Given the description of an element on the screen output the (x, y) to click on. 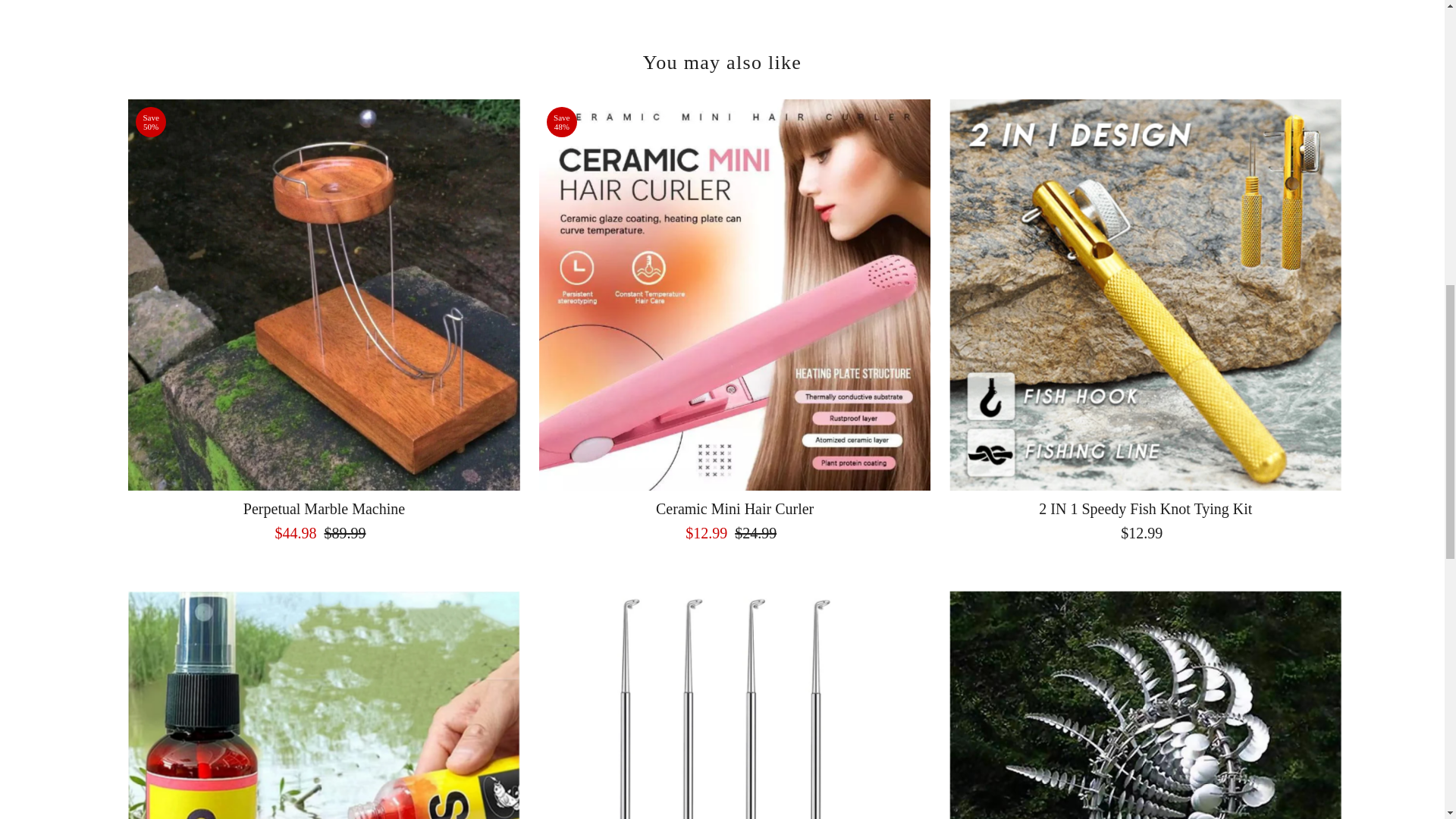
Unique And Magical Metal Windmill (1144, 704)
Natural Scent Fish Attractants for Baits (323, 704)
Fishing Hook Quick Removal Device (734, 704)
